Given the description of an element on the screen output the (x, y) to click on. 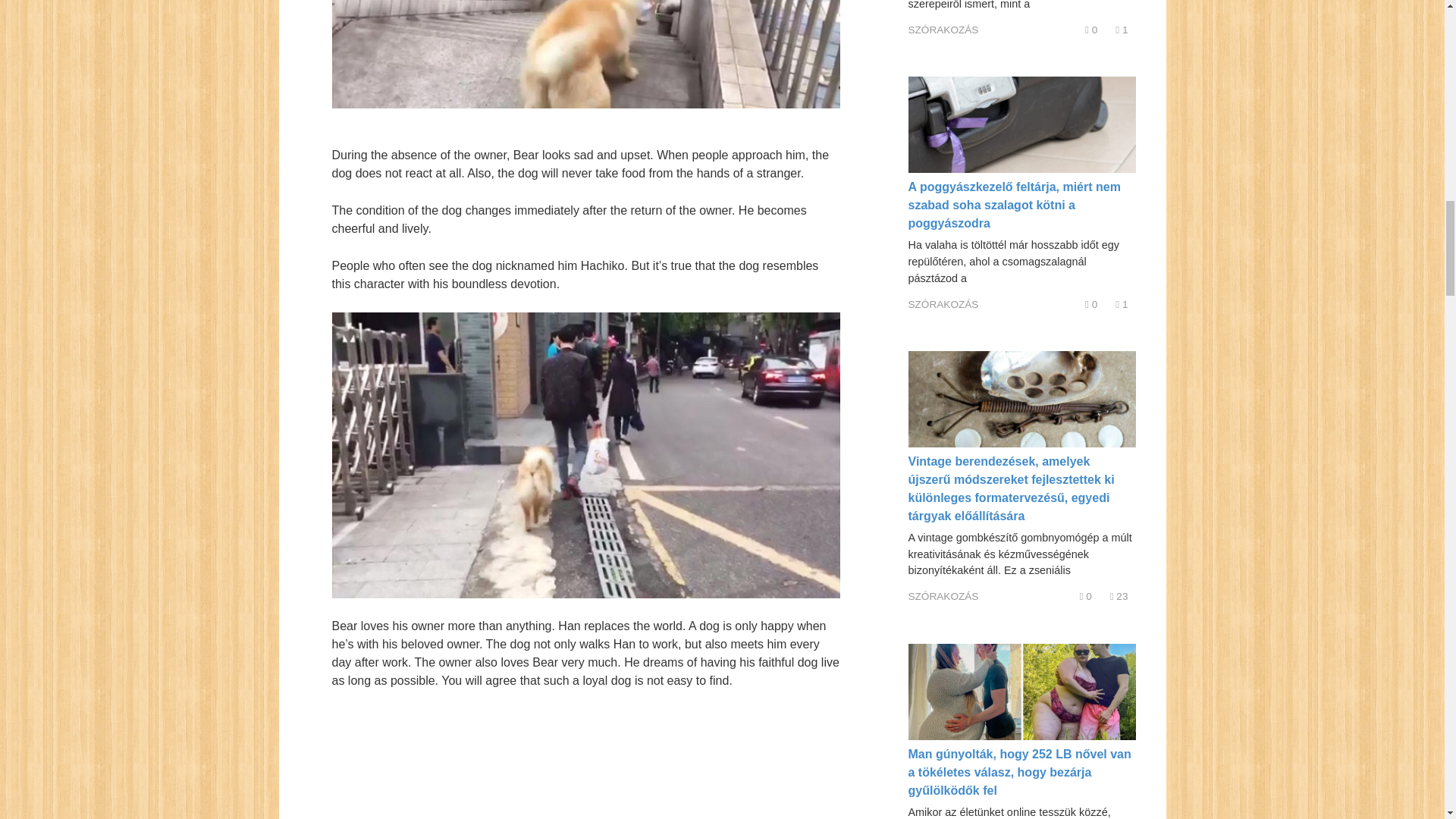
Views (1118, 595)
Views (1120, 304)
Comments (1090, 30)
YouTube video player (573, 764)
Comments (1086, 595)
Views (1120, 30)
Comments (1090, 304)
